Given the description of an element on the screen output the (x, y) to click on. 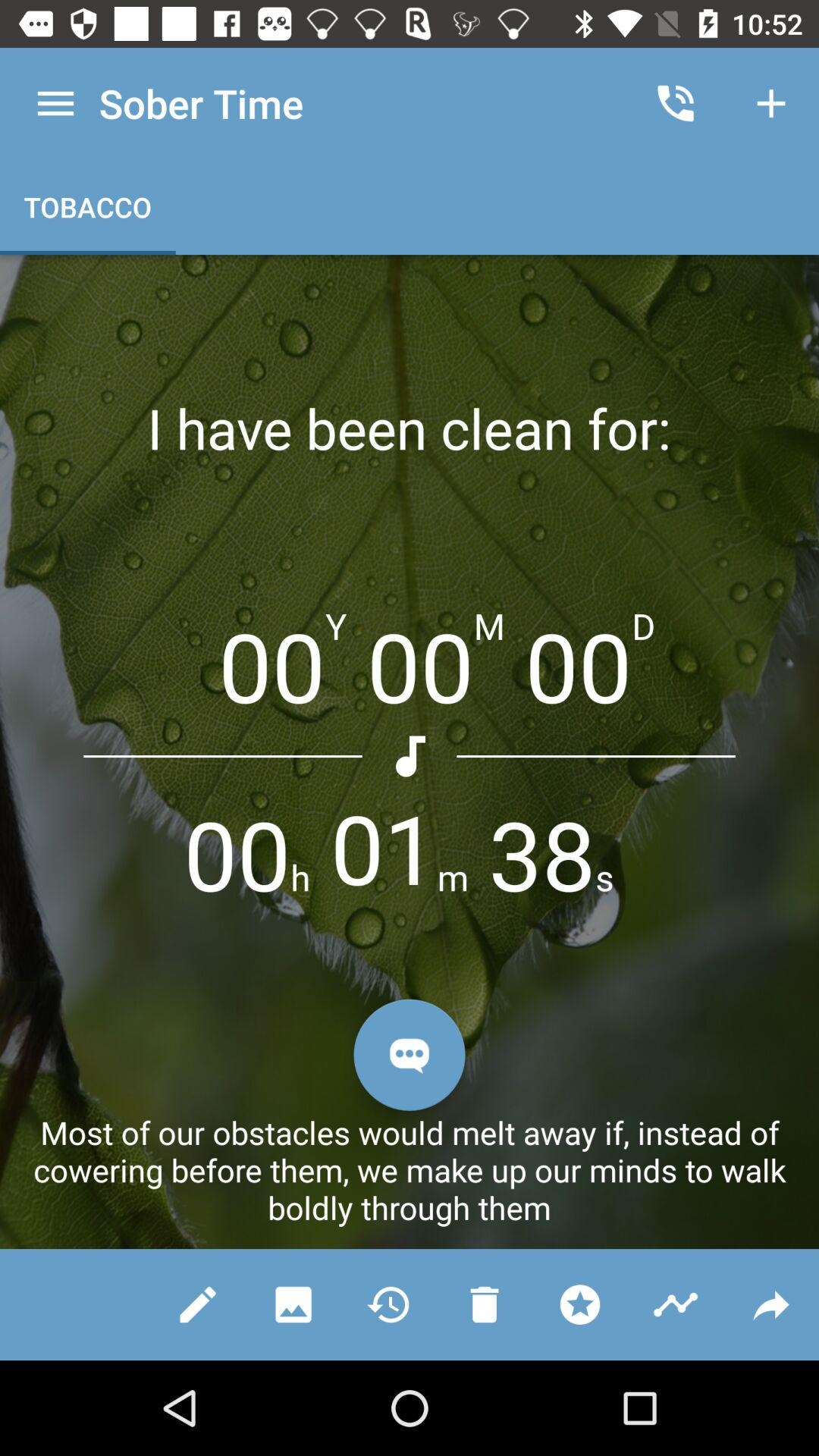
choose the item at the bottom left corner (197, 1304)
